Given the description of an element on the screen output the (x, y) to click on. 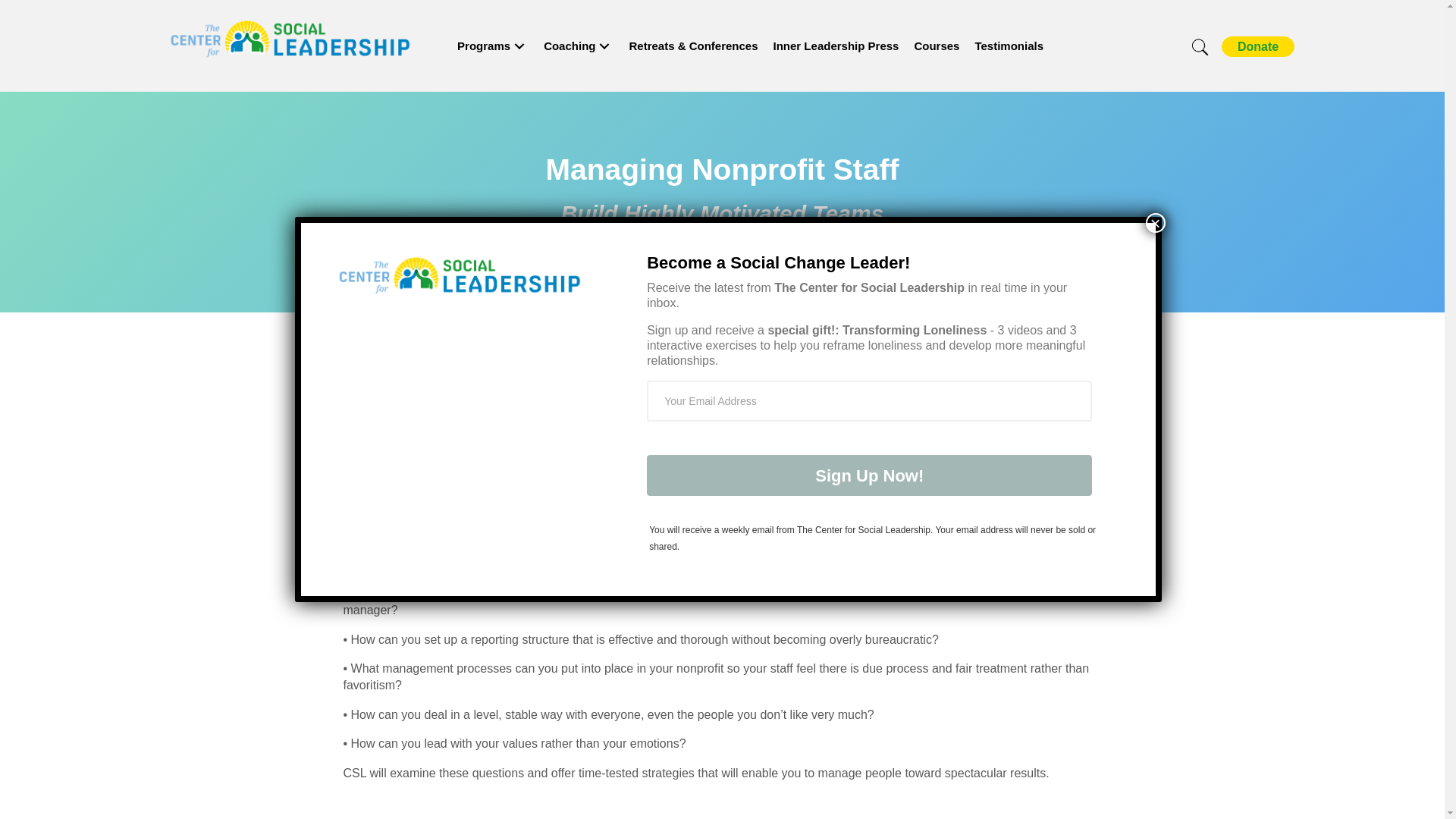
Donate (1257, 46)
Sign Up Now! (869, 475)
Programs (492, 45)
Inner Leadership Press (836, 45)
Courses (935, 45)
Coaching (578, 45)
Sign Up Now! (869, 475)
PayPal - The safer, easier way to pay online! (1257, 46)
Testimonials (1008, 45)
Donate (1257, 46)
